Given the description of an element on the screen output the (x, y) to click on. 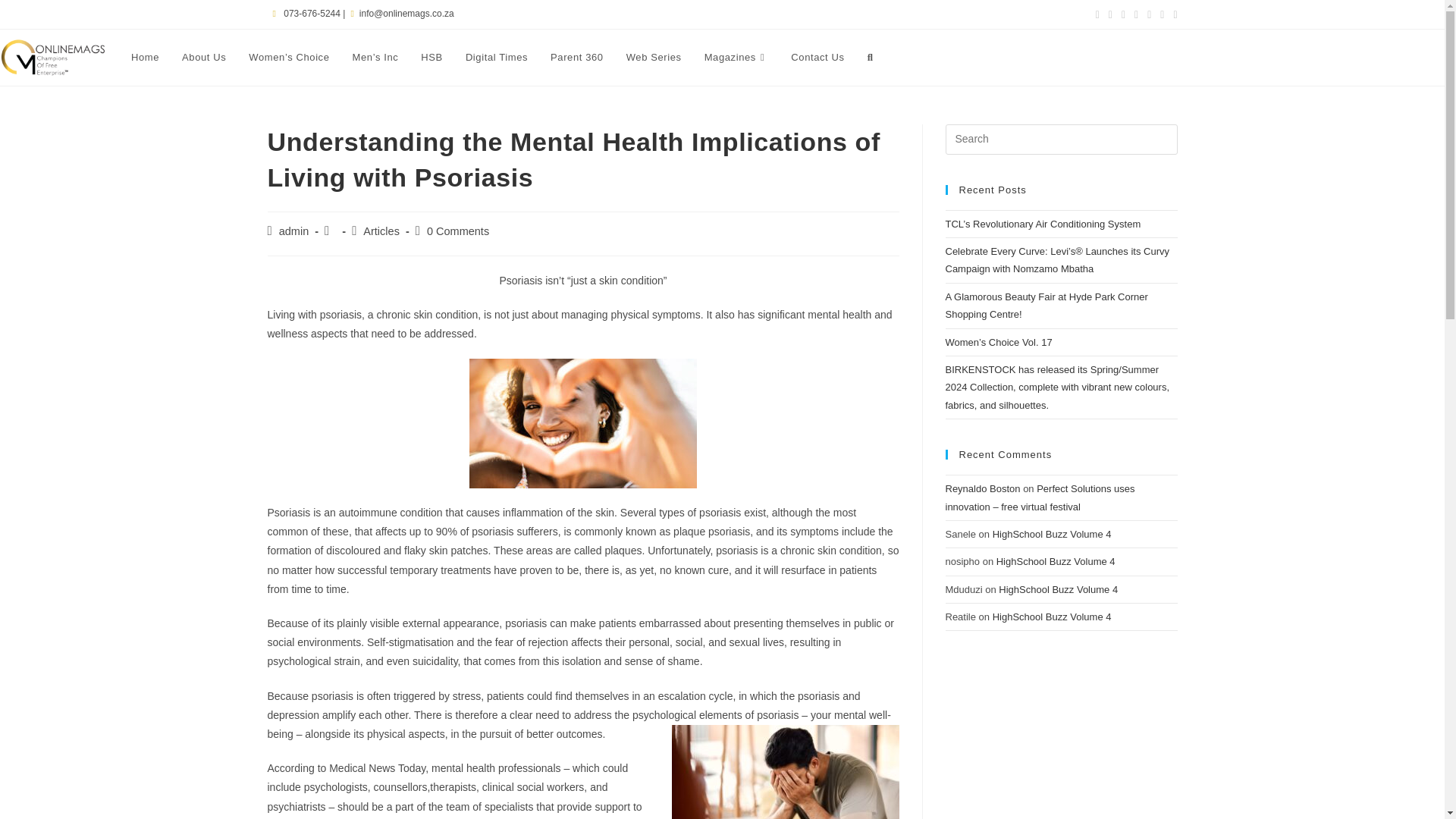
0 Comments (457, 231)
admin (293, 231)
Contact Us (817, 57)
Magazines (736, 57)
Digital Times (496, 57)
About Us (203, 57)
Parent 360 (576, 57)
Web Series (653, 57)
Home (144, 57)
Articles (380, 231)
